Given the description of an element on the screen output the (x, y) to click on. 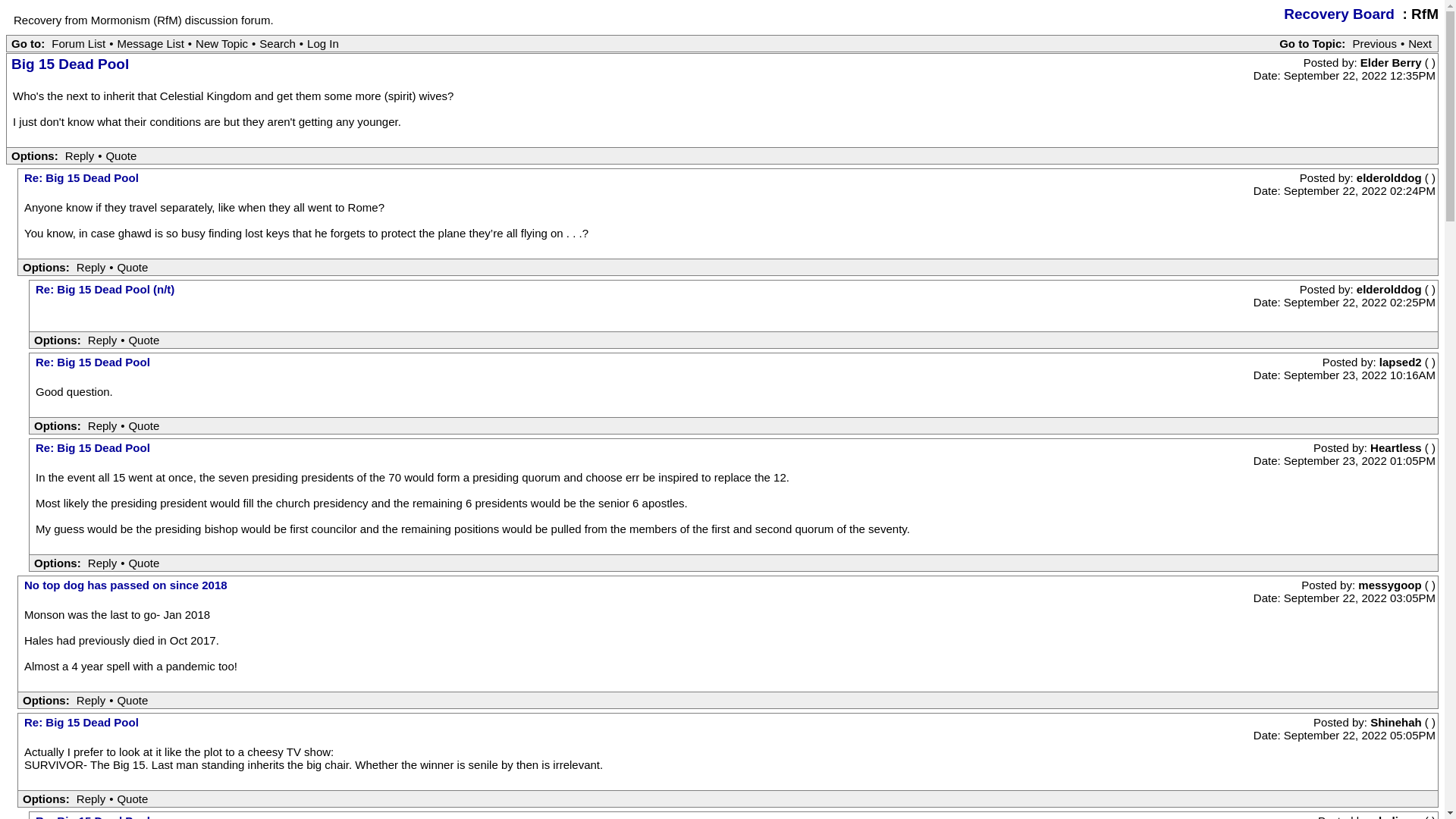
Big 15 Dead Pool (70, 64)
Search (277, 43)
Quote (143, 339)
Quote (143, 563)
Quote (120, 155)
Message List (150, 43)
Reply (90, 267)
Re: Big 15 Dead Pool (81, 721)
Reply (90, 699)
Reply (102, 425)
